Given the description of an element on the screen output the (x, y) to click on. 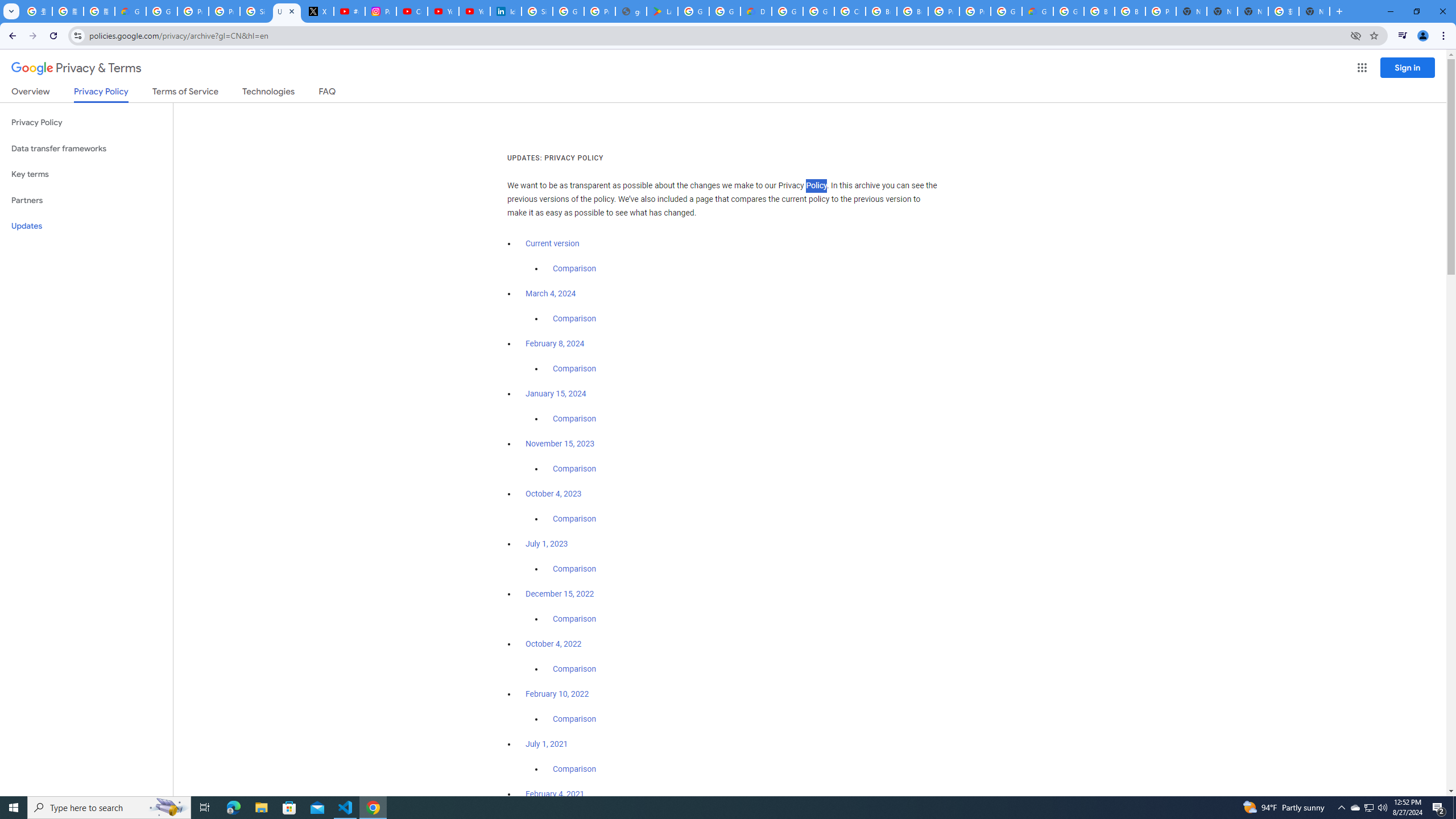
Privacy Help Center - Policies Help (223, 11)
Google Cloud Platform (1005, 11)
#nbabasketballhighlights - YouTube (349, 11)
Privacy Help Center - Policies Help (192, 11)
Browse Chrome as a guest - Computer - Google Chrome Help (912, 11)
November 15, 2023 (560, 443)
Data transfer frameworks (86, 148)
January 15, 2024 (555, 394)
